Given the description of an element on the screen output the (x, y) to click on. 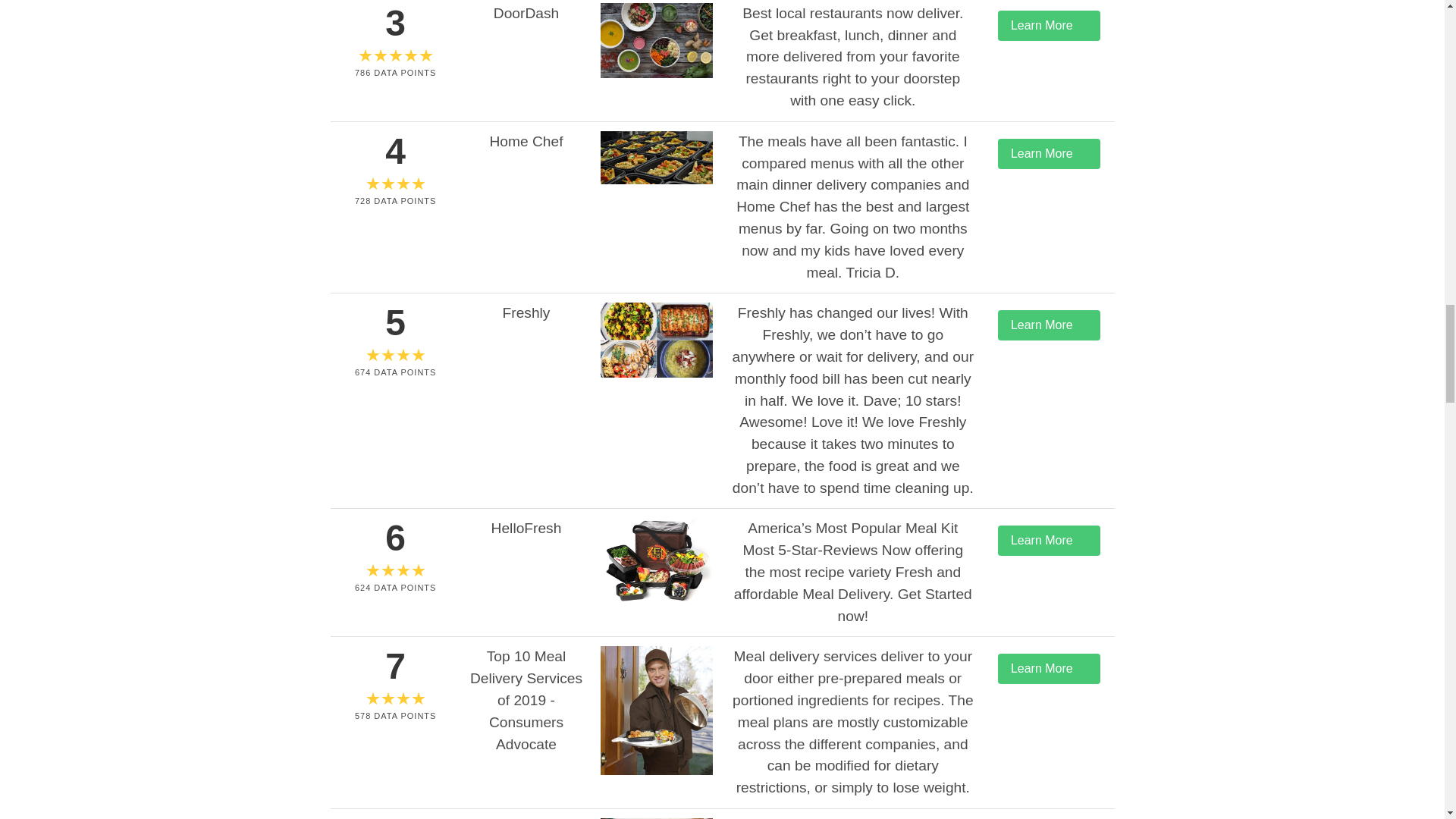
Learn More (1048, 668)
Learn More (1048, 153)
Learn More (1048, 25)
Learn More (1048, 325)
Learn More (1048, 540)
